Given the description of an element on the screen output the (x, y) to click on. 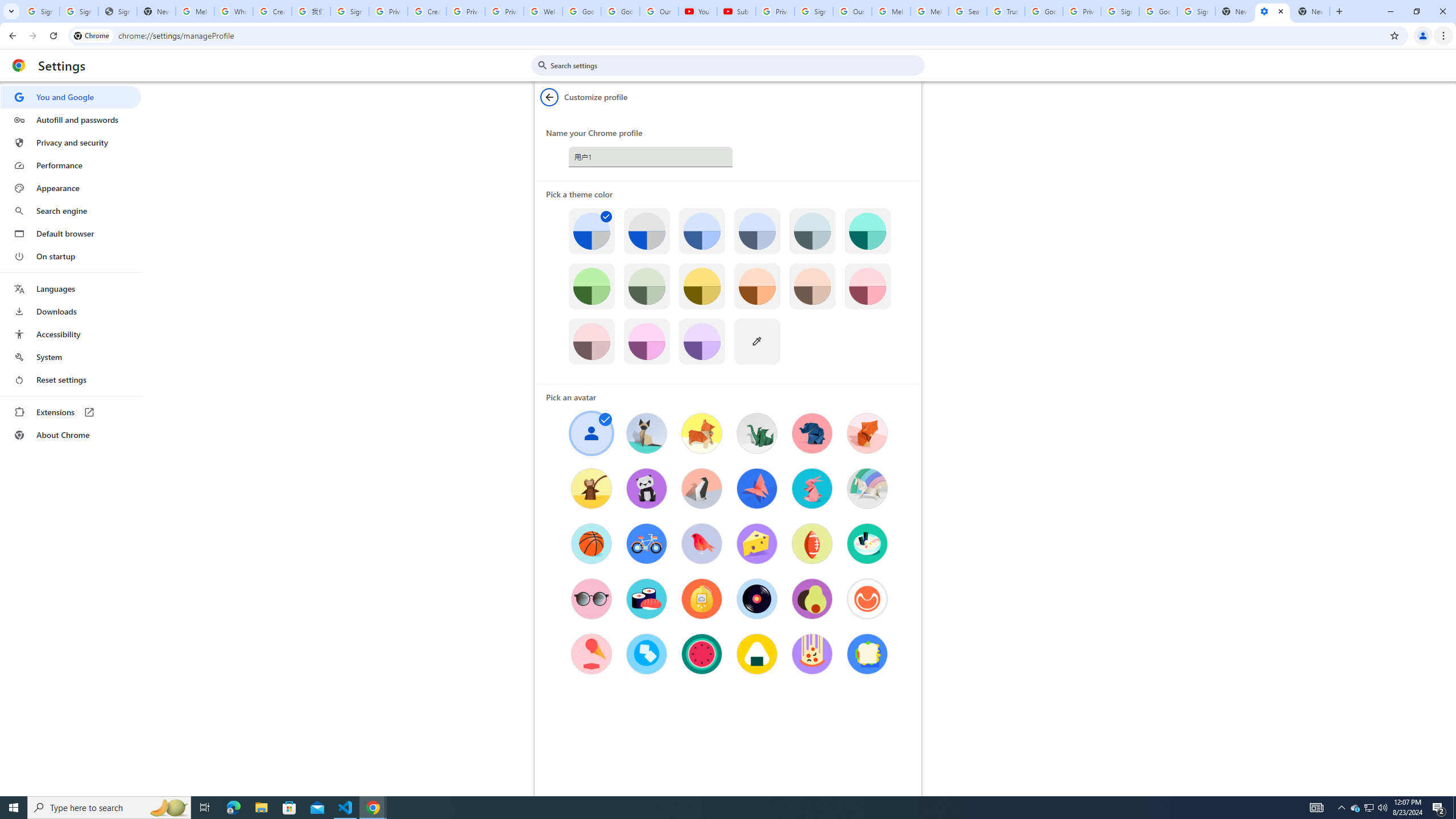
Search settings (735, 65)
Search our Doodle Library Collection - Google Doodles (967, 11)
Subscriptions - YouTube (736, 11)
Sign in - Google Accounts (79, 11)
Sign in - Google Accounts (1120, 11)
Trusted Information and Content - Google Safety Center (1005, 11)
